Given the description of an element on the screen output the (x, y) to click on. 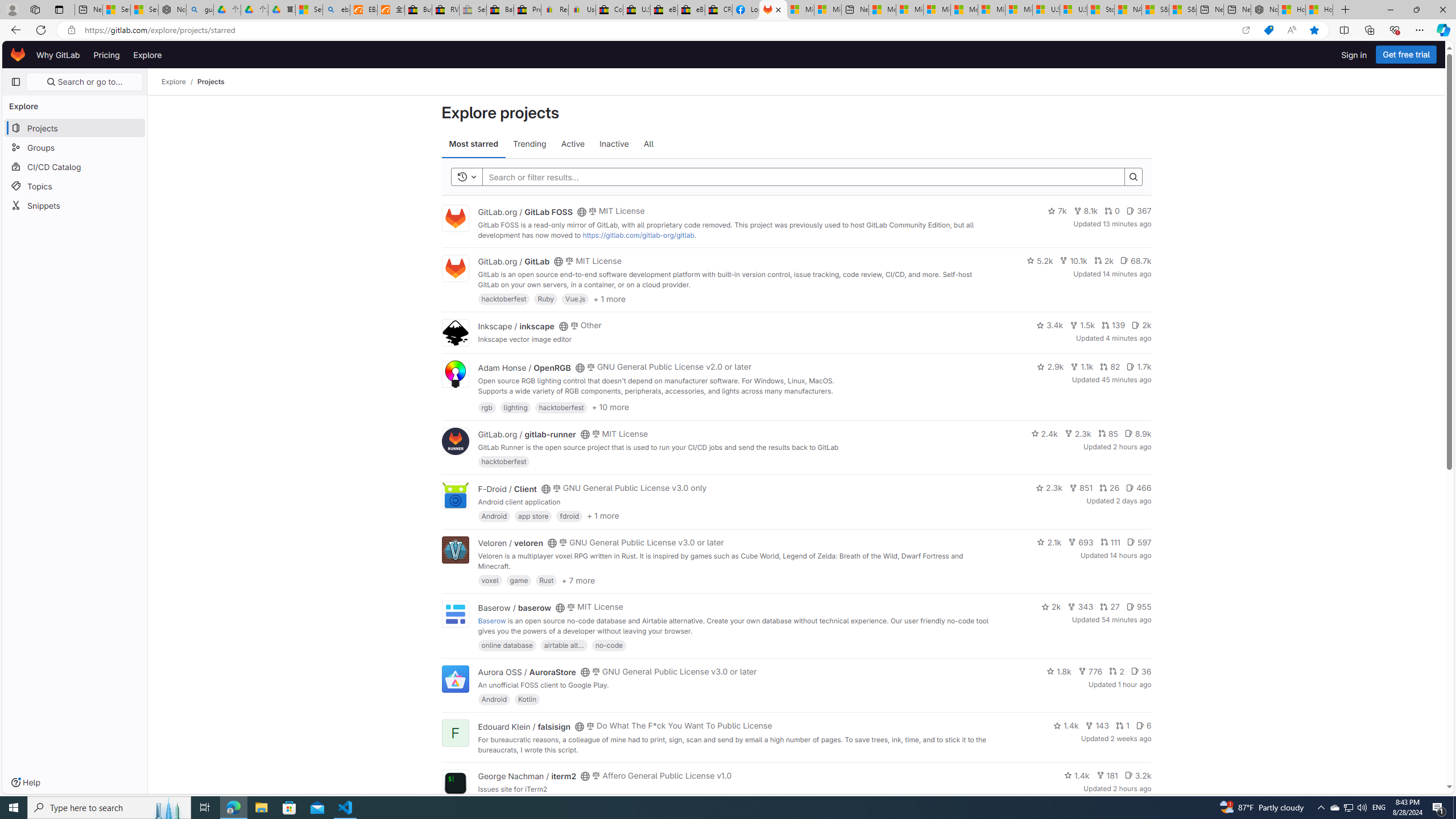
Ruby (545, 298)
10.1k (1073, 259)
voxel (489, 579)
Search (797, 177)
111 (1110, 541)
App bar (728, 29)
851 (1080, 487)
367 (1138, 210)
Active (572, 143)
8.9k (1137, 433)
36 (1141, 671)
Sign in (1353, 54)
